Given the description of an element on the screen output the (x, y) to click on. 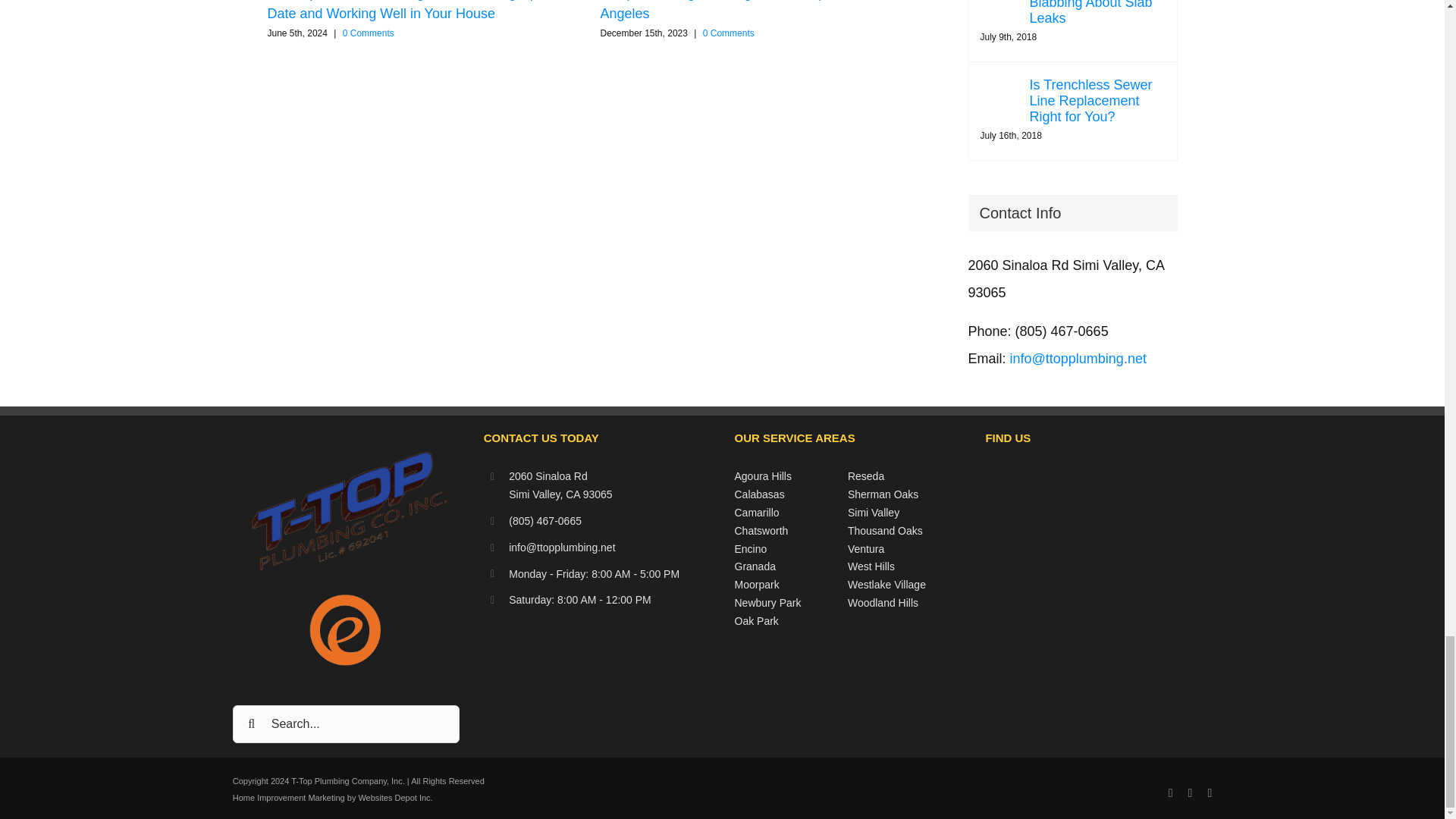
T-Top Plumbing: Tackling Faucet Repair in Los Angeles (740, 10)
